Given the description of an element on the screen output the (x, y) to click on. 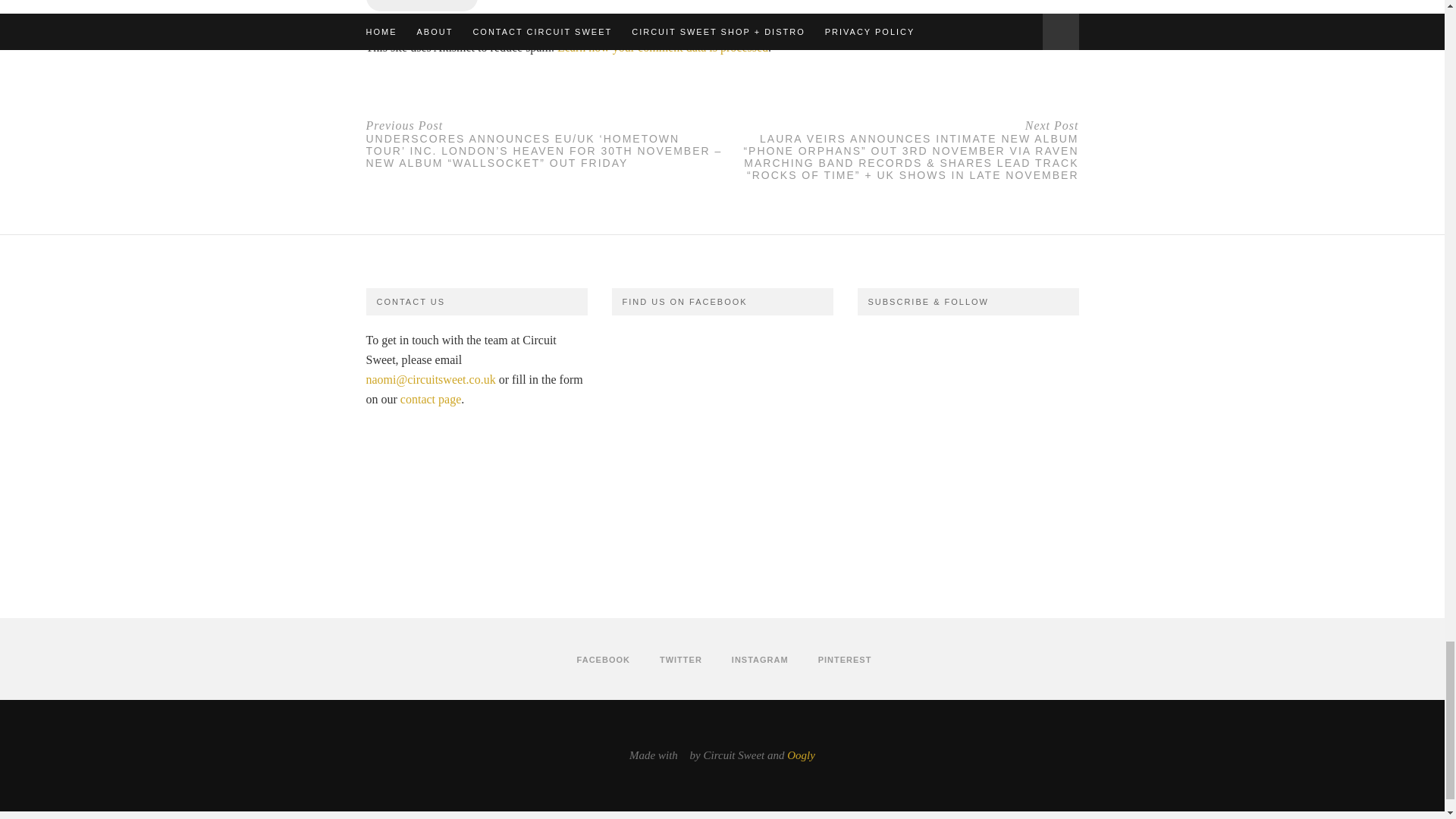
Post Comment (421, 5)
Post Comment (421, 5)
Learn how your comment data is processed (662, 47)
